Given the description of an element on the screen output the (x, y) to click on. 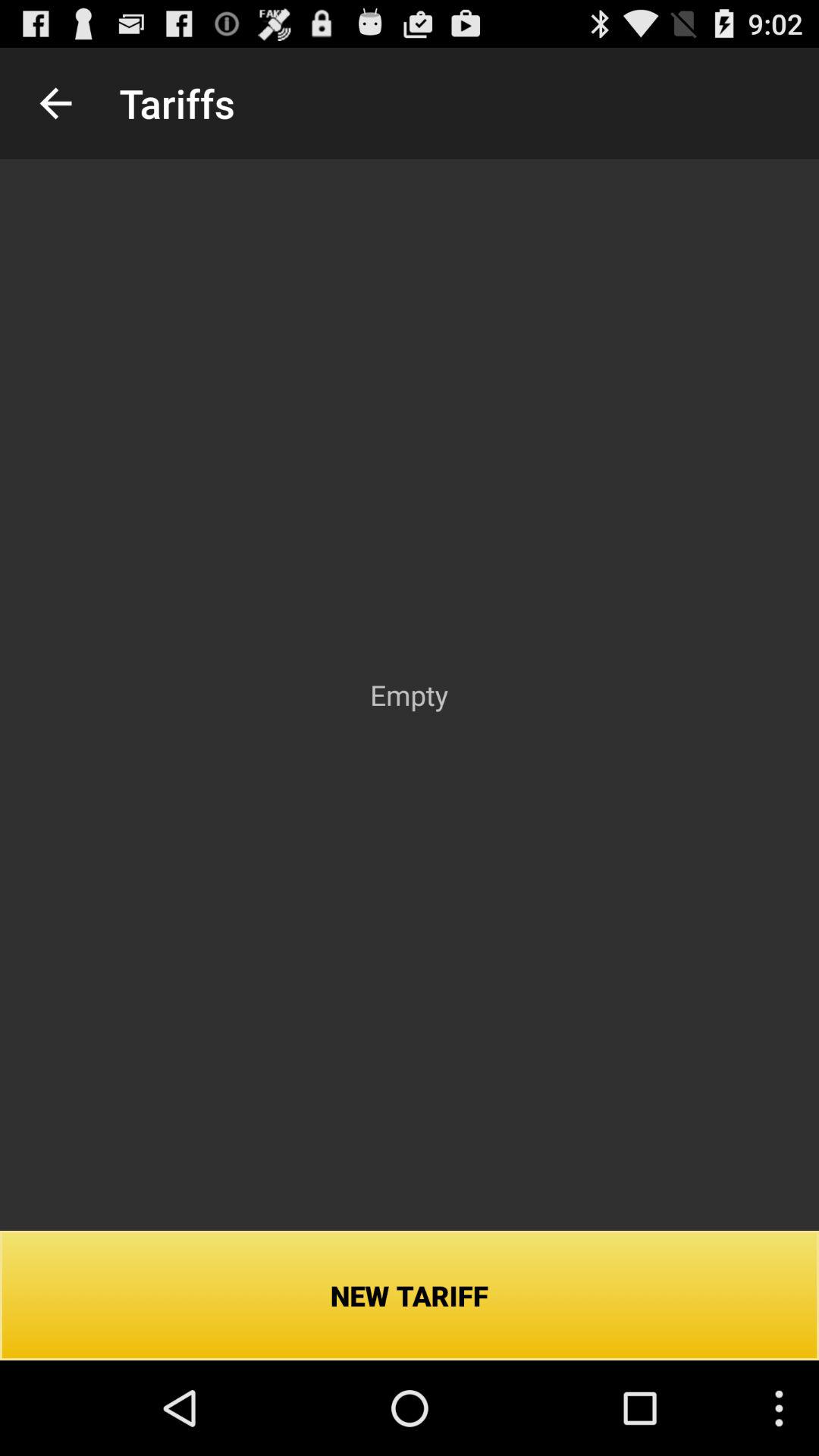
launch new tariff item (409, 1295)
